Given the description of an element on the screen output the (x, y) to click on. 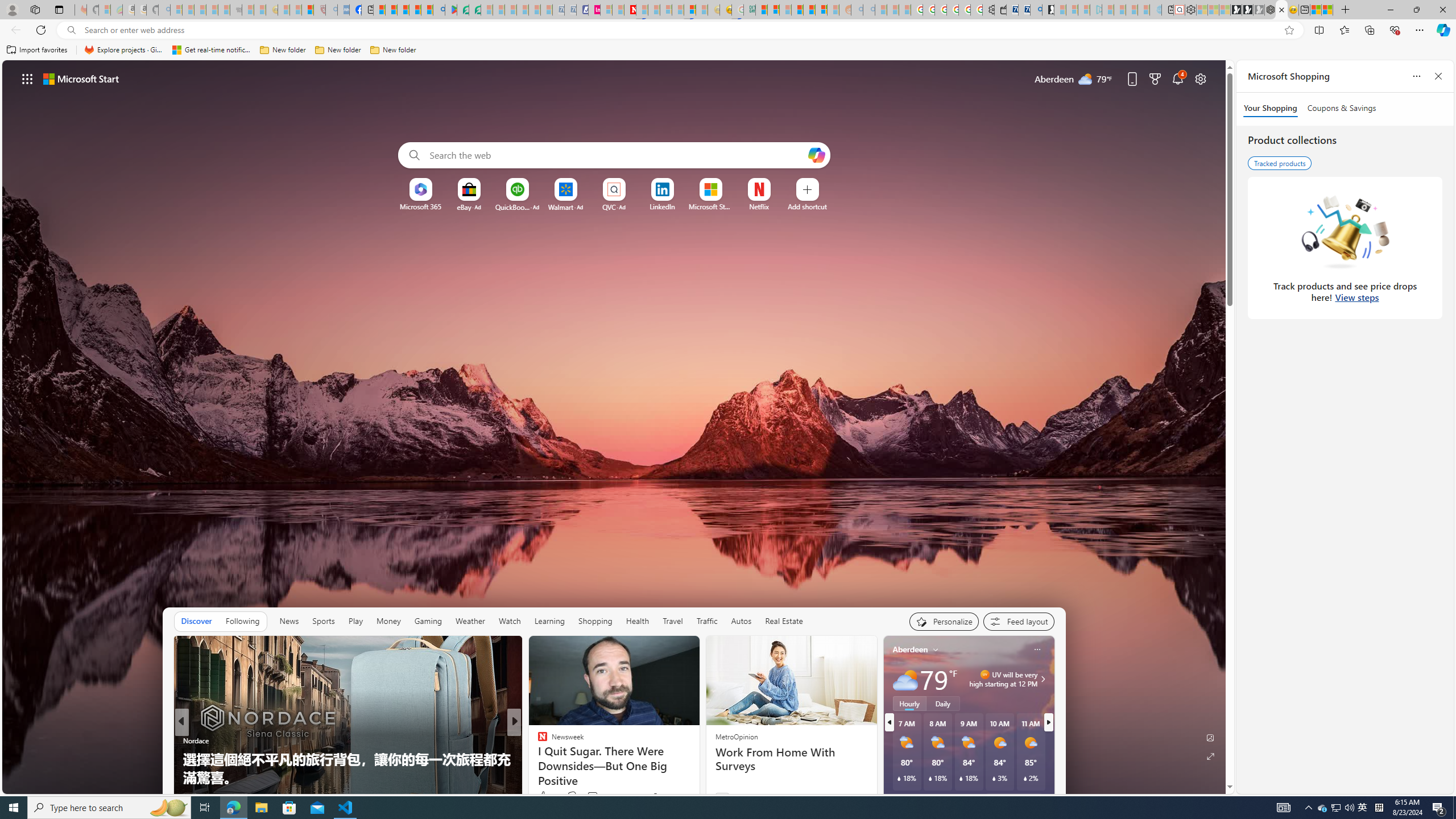
Personalize your feed" (943, 621)
Mostly cloudy (904, 678)
Import favorites (36, 49)
Shopping (594, 621)
You're following Newsweek (670, 795)
195 Like (545, 796)
CNBC (537, 740)
Expand background (1210, 756)
